Given the description of an element on the screen output the (x, y) to click on. 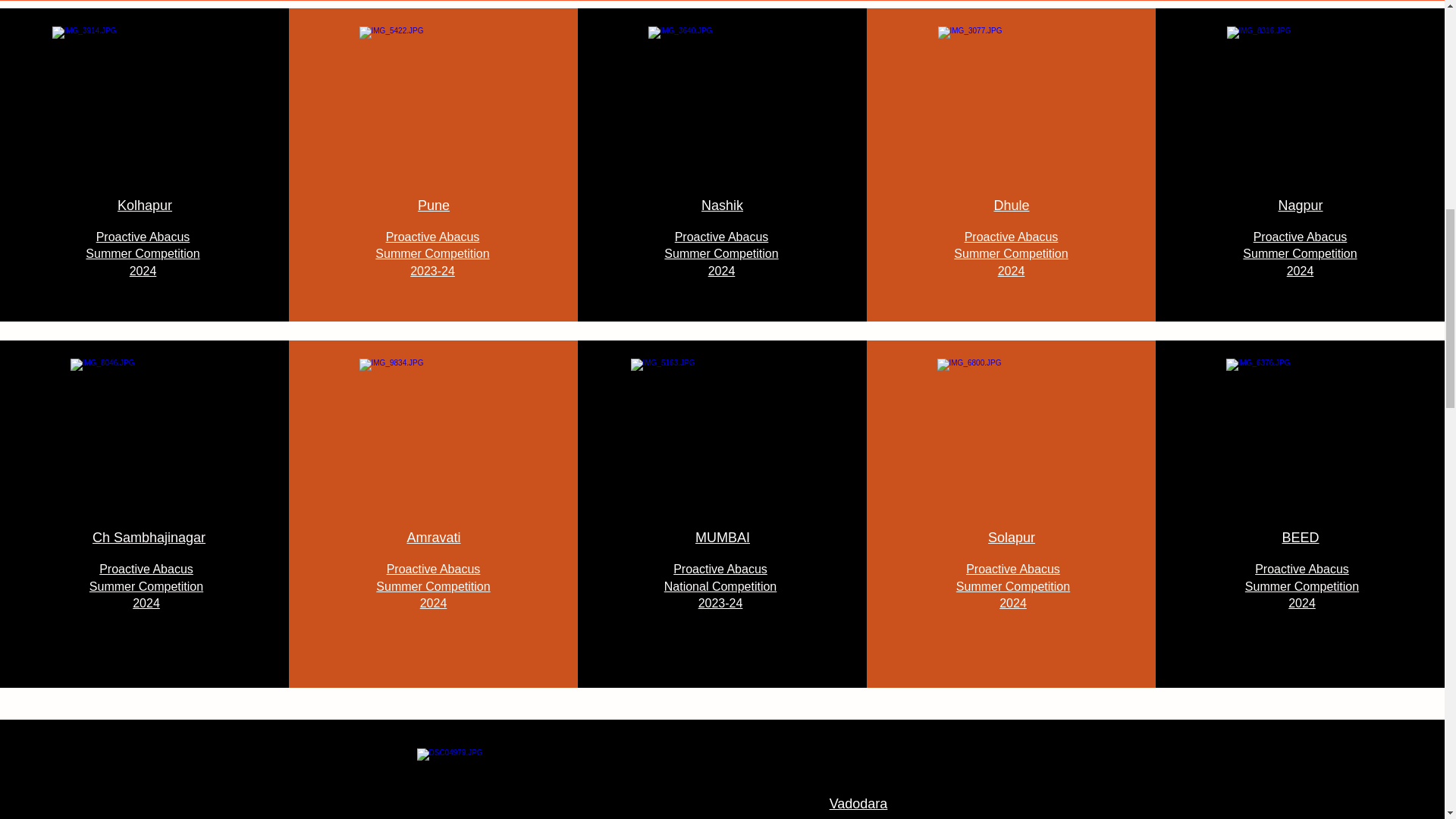
Nagpur (1300, 205)
Kolhapur (144, 205)
Proactive Abacus Summer Competition 2024 (432, 585)
Proactive Abacus Summer Competition 2024 (1010, 253)
Proactive Abacus Summer Competition 2023-24 (432, 253)
Amravati (433, 537)
Proactive Abacus National Competition 2023-24 (720, 585)
Proactive Abacus Summer Competition 2024 (1299, 253)
Pune (433, 205)
Ch Sambhajinagar (149, 537)
